Given the description of an element on the screen output the (x, y) to click on. 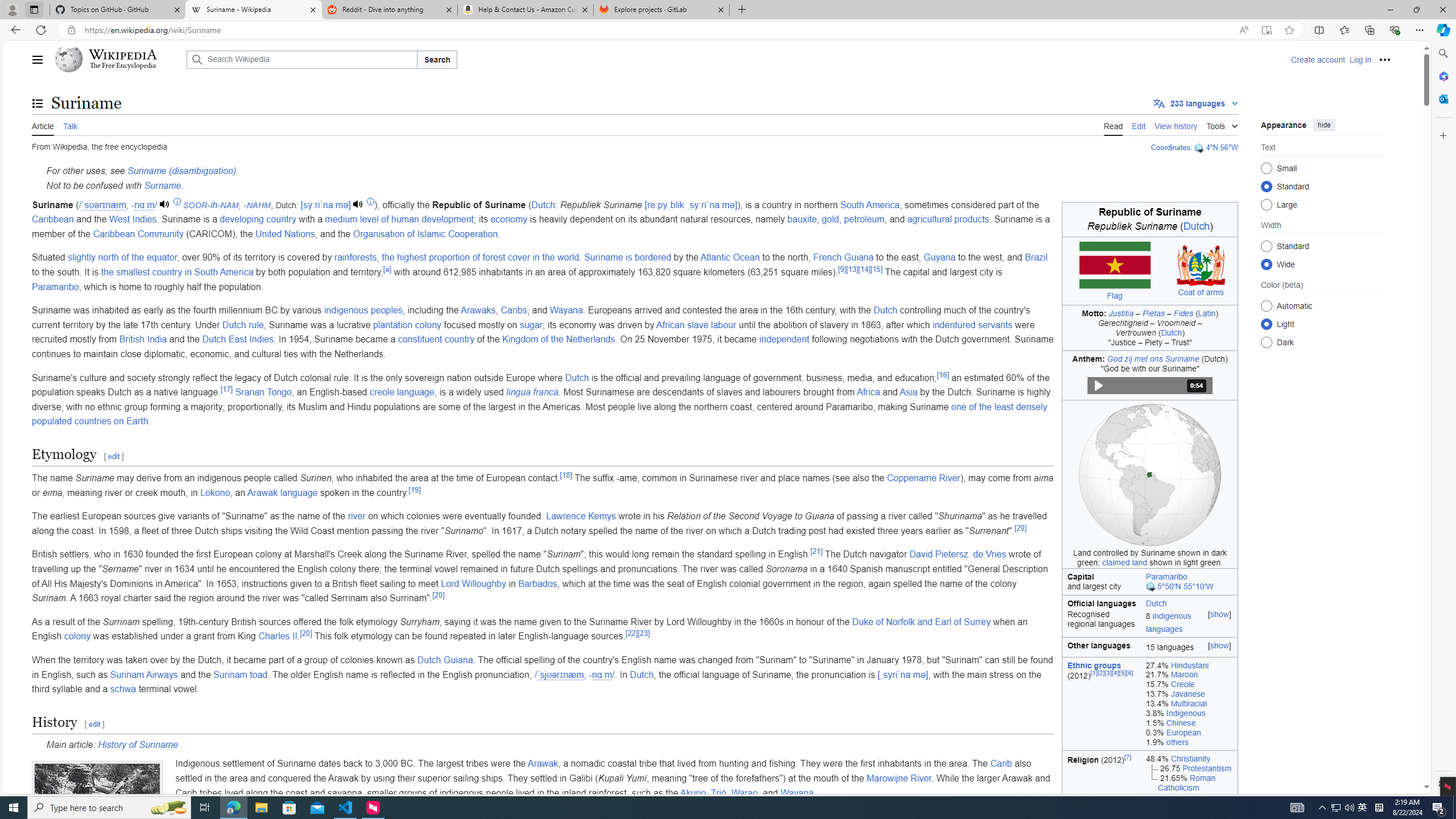
Dutch Guiana (444, 659)
God zij met ons Suriname (1152, 358)
Small (1266, 167)
[6] (1129, 672)
Arawak language (282, 492)
Warao (744, 792)
slightly north of the equator (121, 257)
Class: mw-list-item mw-list-item-js (1321, 323)
View history (1176, 124)
Roman Catholicism (1186, 782)
Hinduism (1187, 796)
indigenous languages (1168, 622)
